Given the description of an element on the screen output the (x, y) to click on. 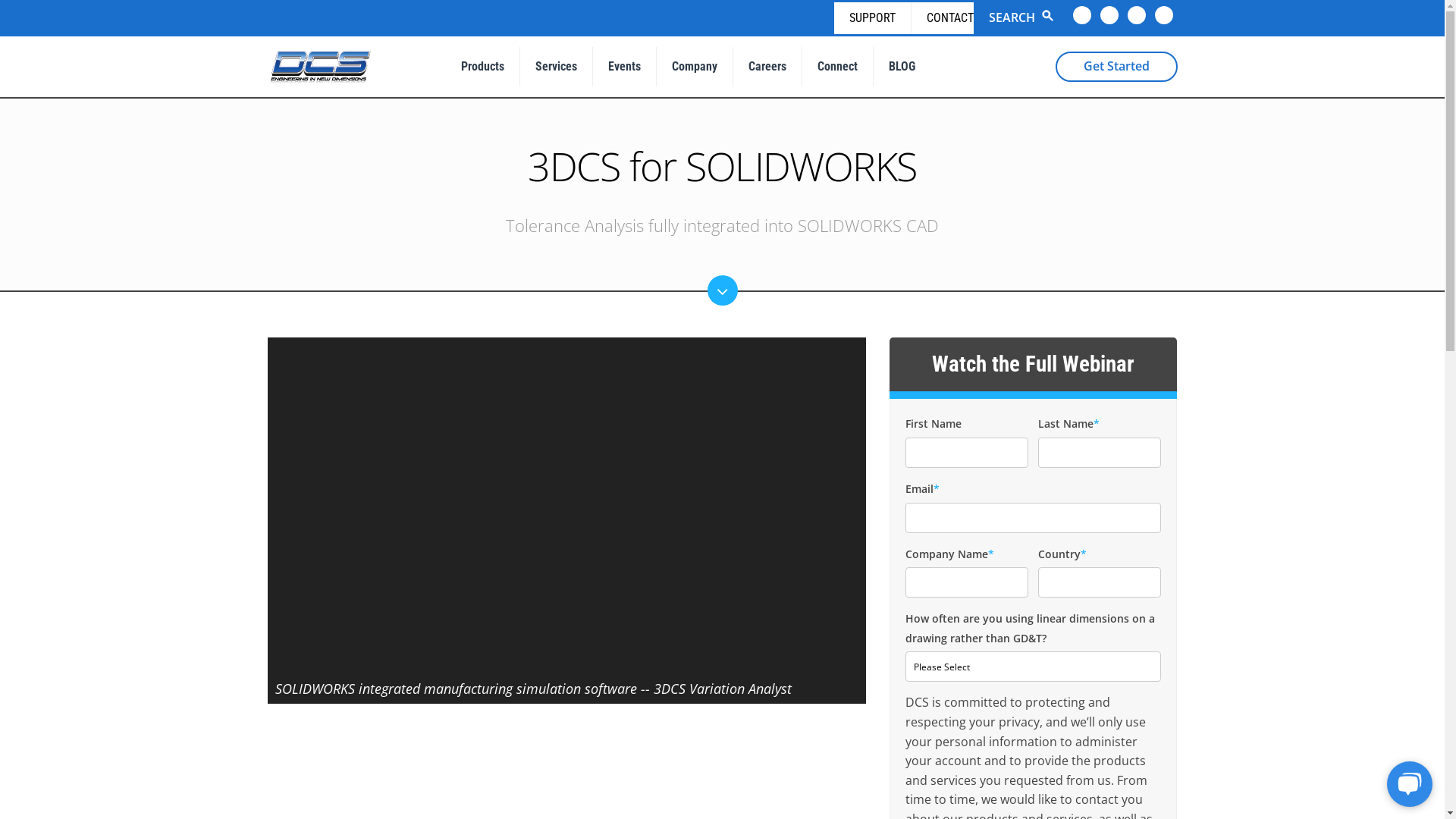
SUPPORT Element type: text (872, 18)
Products Element type: text (482, 66)
Get Started Element type: text (1116, 66)
Careers Element type: text (766, 66)
CONTACT Element type: text (941, 18)
Connect Element type: text (836, 66)
Company Element type: text (693, 66)
Services Element type: text (554, 66)
Events Element type: text (623, 66)
BLOG Element type: text (900, 66)
